Given the description of an element on the screen output the (x, y) to click on. 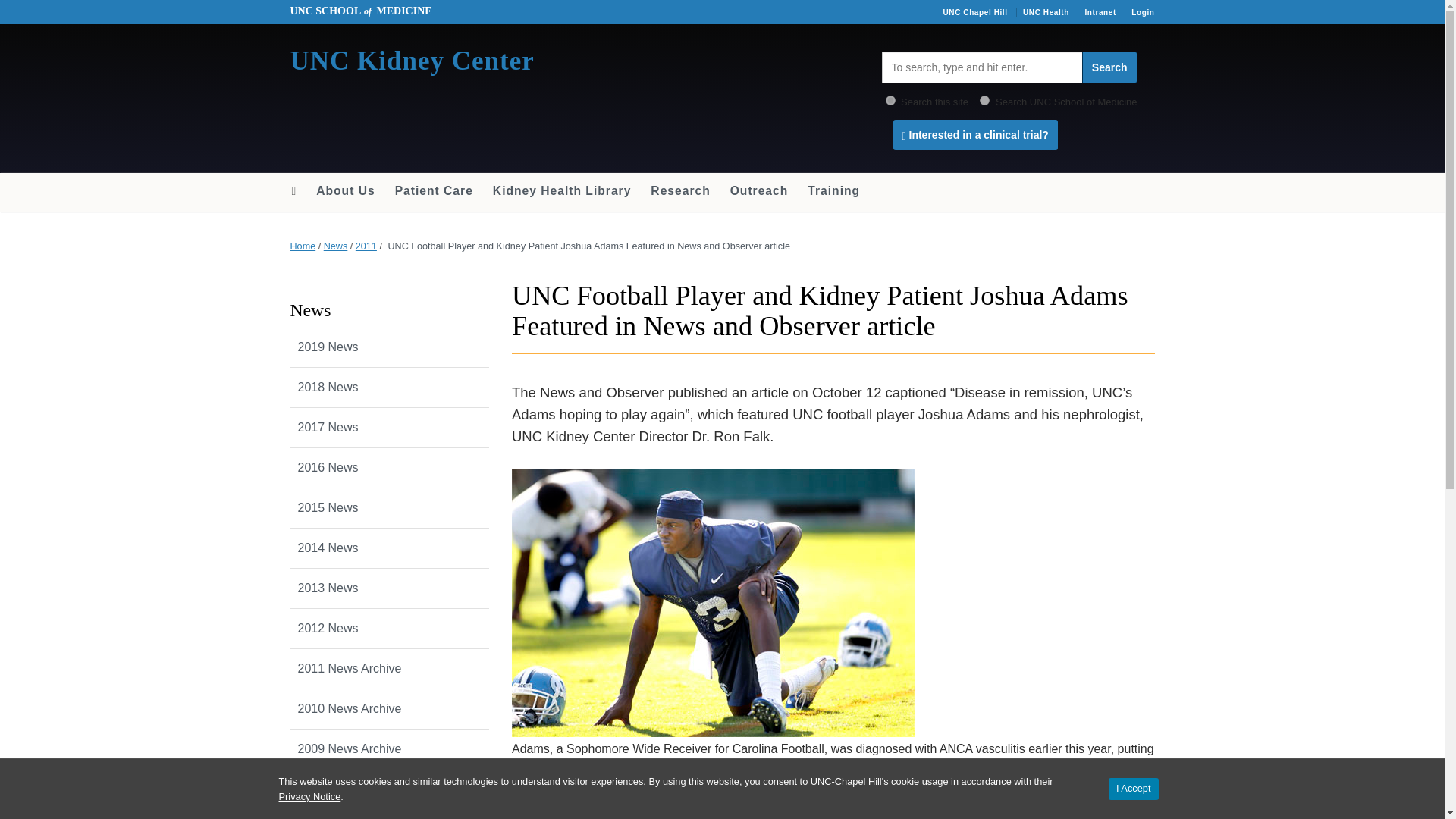
Kidney Health Library (562, 190)
Home (302, 245)
UNC Chapel Hill (974, 12)
2011 (366, 245)
2016 News (389, 467)
Outreach (758, 190)
UNC SCHOOL of MEDICINE (359, 11)
Intranet (1099, 12)
Login (1142, 12)
Training (833, 190)
Research (679, 190)
2018 News (389, 387)
Interested in a clinical trial? (975, 134)
gcs (984, 100)
I Accept (1133, 789)
